Given the description of an element on the screen output the (x, y) to click on. 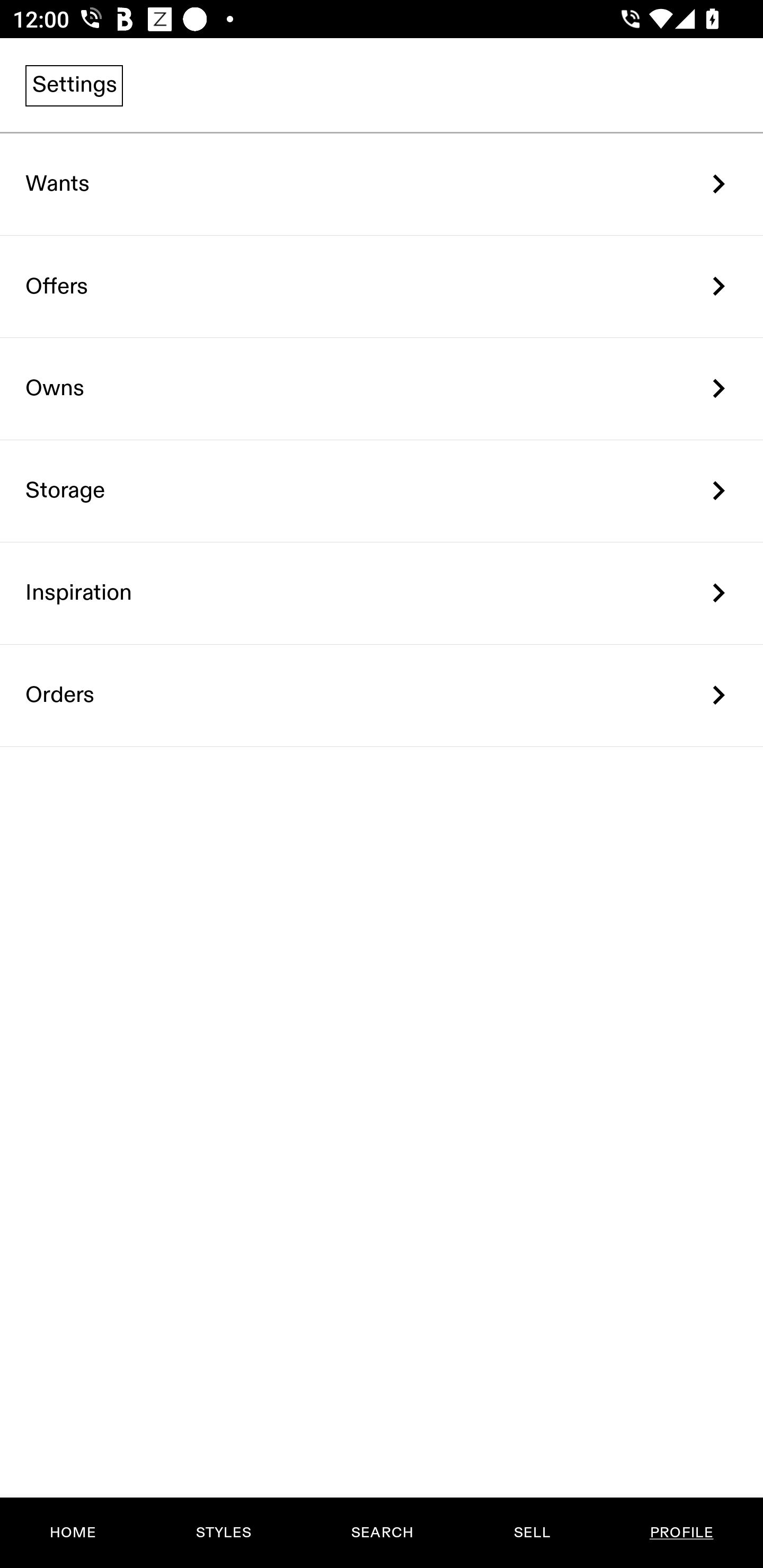
Settings (73, 85)
Wants (381, 184)
Offers (381, 286)
Owns (381, 388)
Storage (381, 491)
Inspiration (381, 593)
Orders (381, 695)
HOME (72, 1532)
STYLES (222, 1532)
SEARCH (381, 1532)
SELL (531, 1532)
PROFILE (681, 1532)
